Given the description of an element on the screen output the (x, y) to click on. 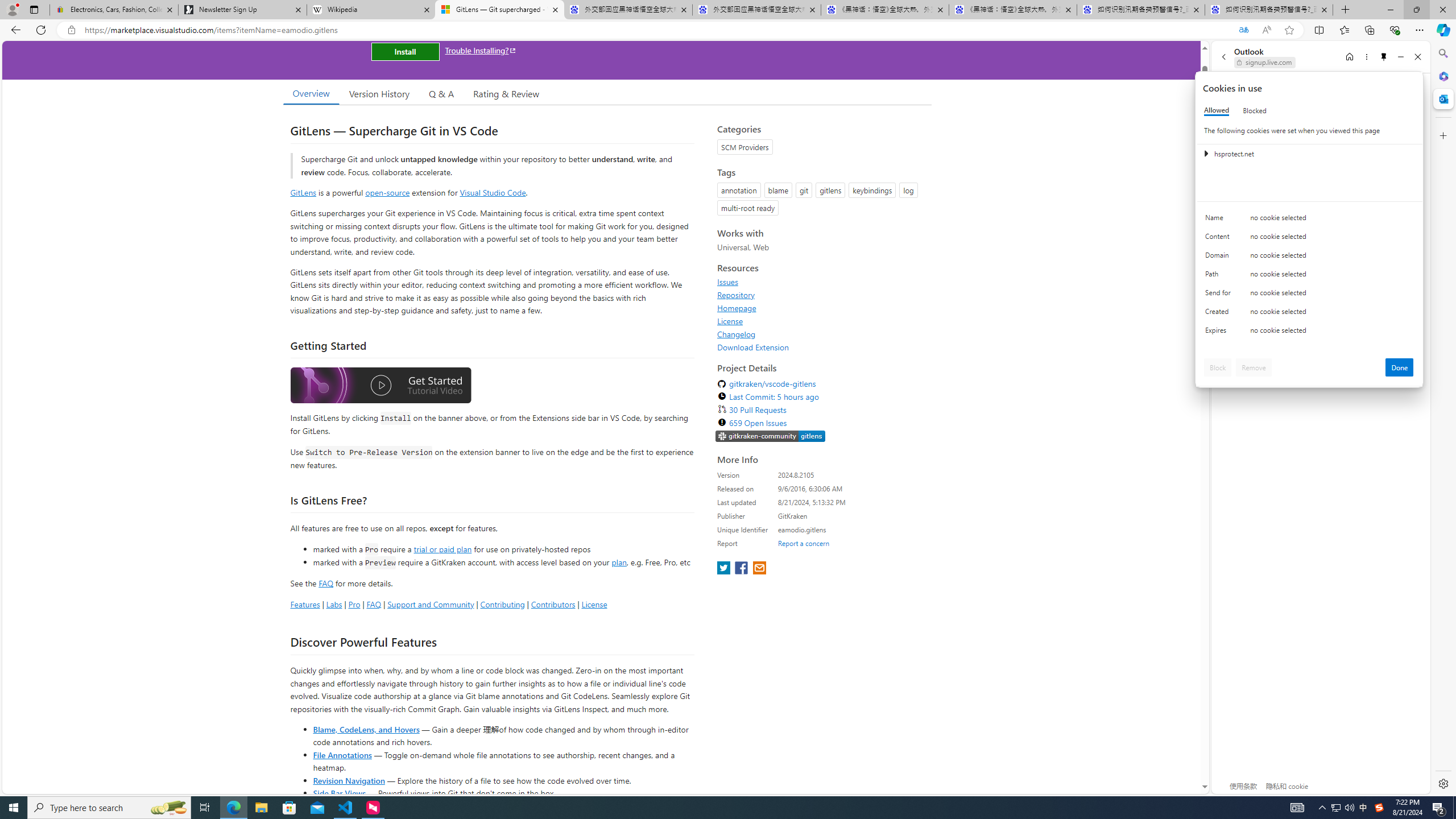
Path (1219, 276)
no cookie selected (1331, 332)
Content (1219, 239)
Created (1219, 313)
Send for (1219, 295)
Allowed (1216, 110)
Class: c0153 c0157 c0154 (1309, 220)
Name (1219, 220)
Remove (1253, 367)
Class: c0153 c0157 (1309, 332)
Domain (1219, 257)
Block (1217, 367)
Blocked (1255, 110)
Expires (1219, 332)
Done (1399, 367)
